Given the description of an element on the screen output the (x, y) to click on. 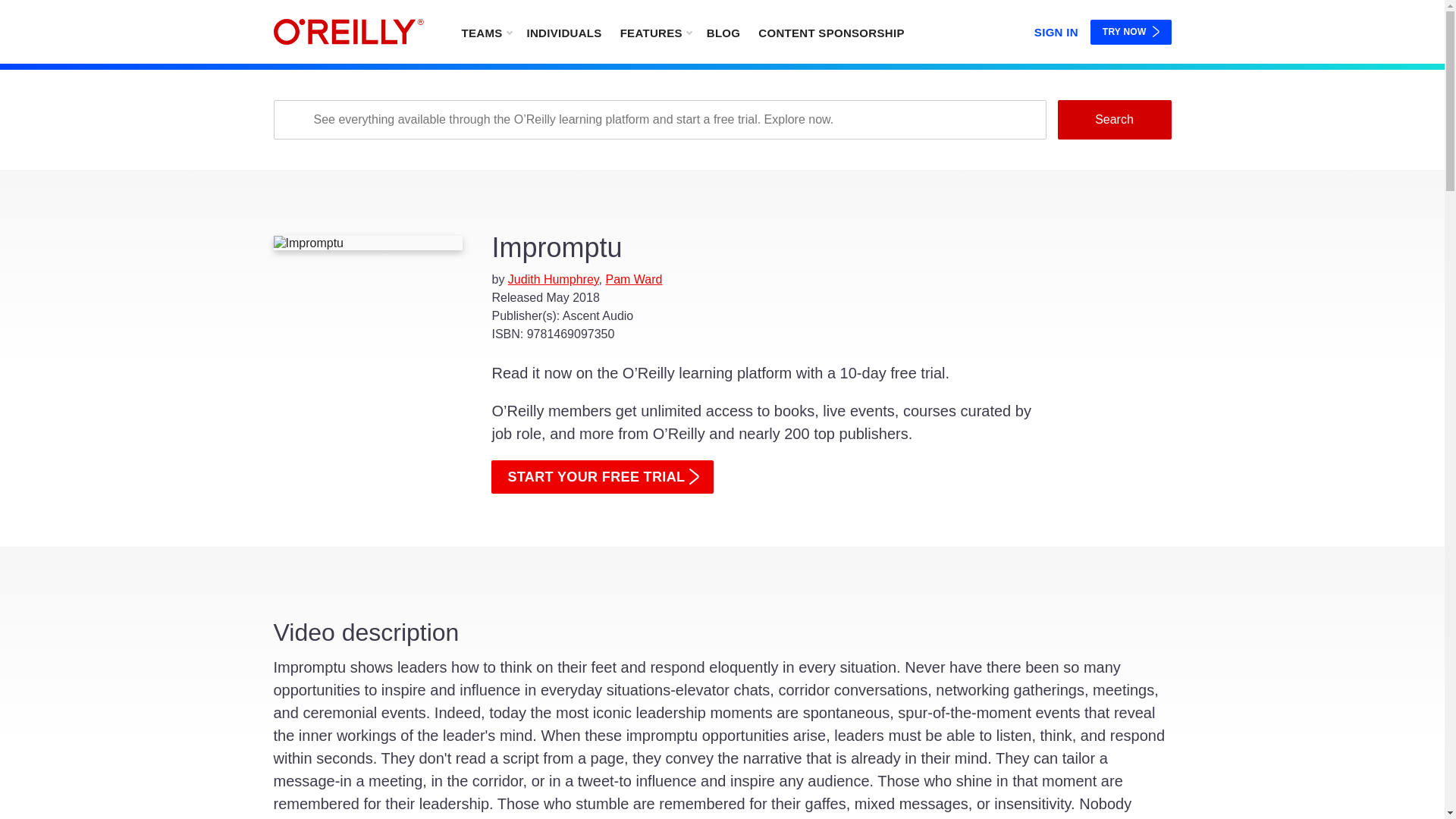
BLOG (723, 31)
Search (1113, 119)
Judith Humphrey (553, 278)
Search (1113, 119)
CONTENT SPONSORSHIP (831, 31)
home page (348, 31)
START YOUR FREE TRIAL (602, 476)
Pam Ward (633, 278)
SIGN IN (1055, 29)
Search (1113, 119)
FEATURES (655, 31)
TRY NOW (1131, 32)
TEAMS (486, 31)
INDIVIDUALS (563, 31)
